Given the description of an element on the screen output the (x, y) to click on. 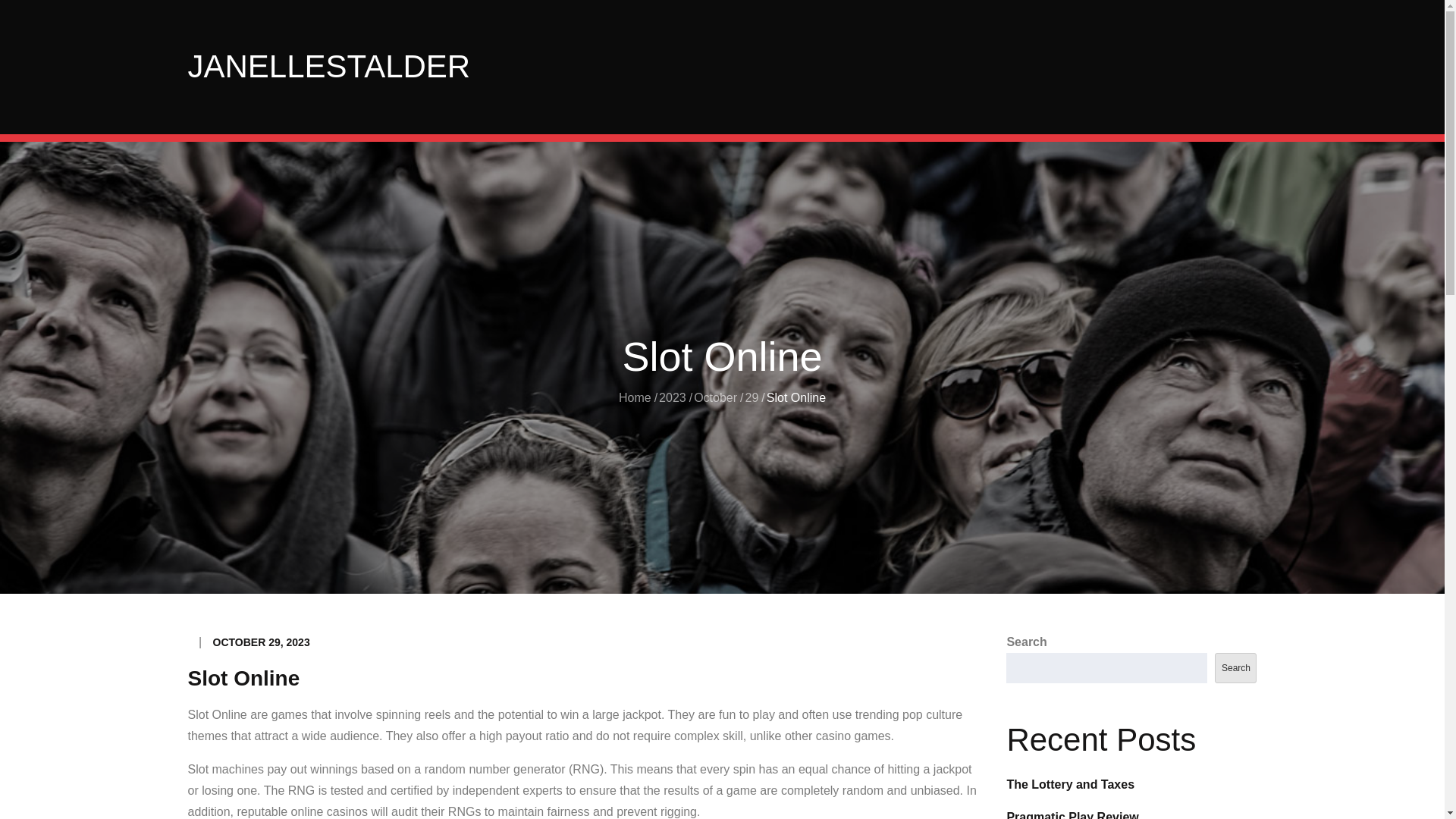
OCTOBER 29, 2023 (261, 642)
Search (1235, 667)
29 (751, 397)
The Lottery and Taxes (1070, 784)
2023 (672, 397)
Home (634, 397)
October (715, 397)
JANELLESTALDER (328, 66)
Pragmatic Play Review (1072, 814)
